Given the description of an element on the screen output the (x, y) to click on. 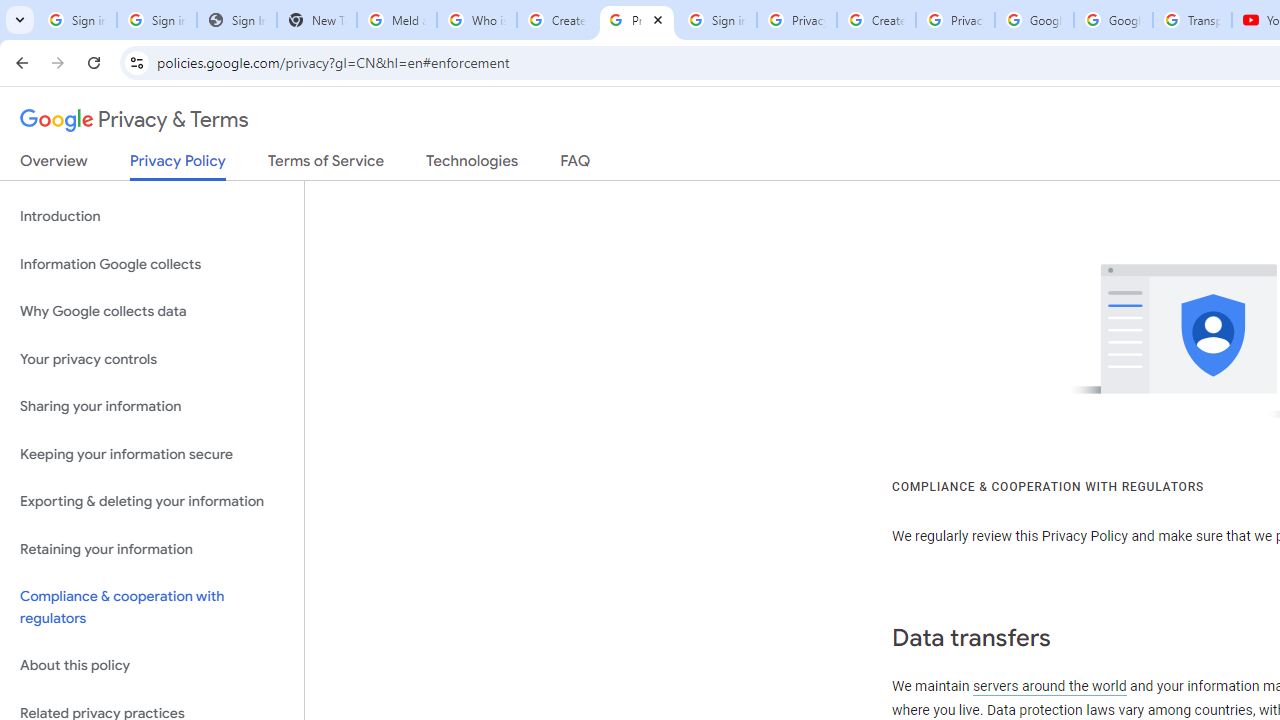
Sharing your information (152, 407)
Sign in - Google Accounts (716, 20)
Keeping your information secure (152, 453)
Information Google collects (152, 263)
Why Google collects data (152, 312)
servers around the world (1048, 686)
Create your Google Account (876, 20)
